Given the description of an element on the screen output the (x, y) to click on. 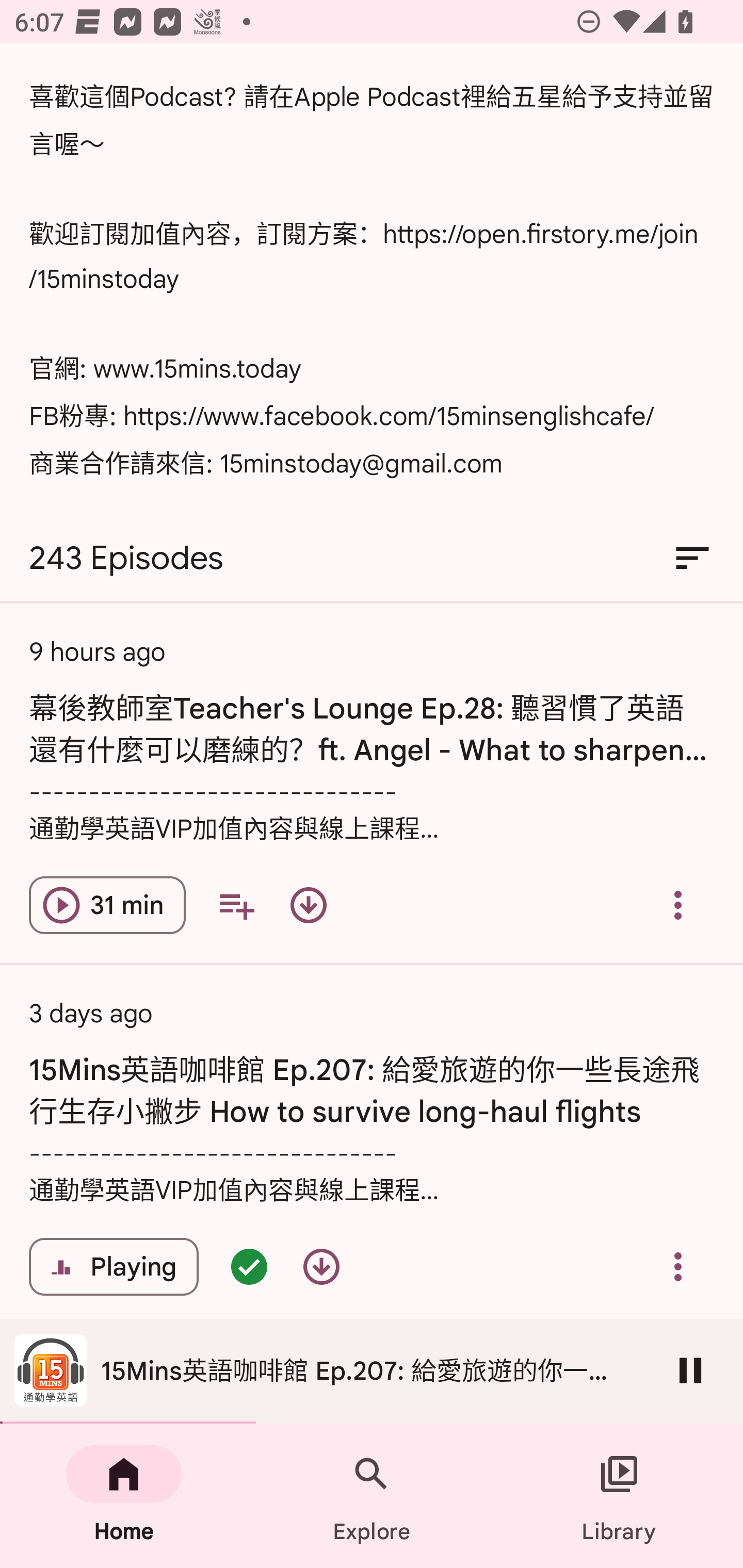
Sort (692, 558)
Add to your queue (235, 905)
Download episode (308, 905)
Overflow menu (677, 905)
Episode queued - double tap for options (249, 1266)
Download episode (321, 1266)
Overflow menu (677, 1266)
Pause (690, 1370)
Explore (371, 1495)
Library (619, 1495)
